Given the description of an element on the screen output the (x, y) to click on. 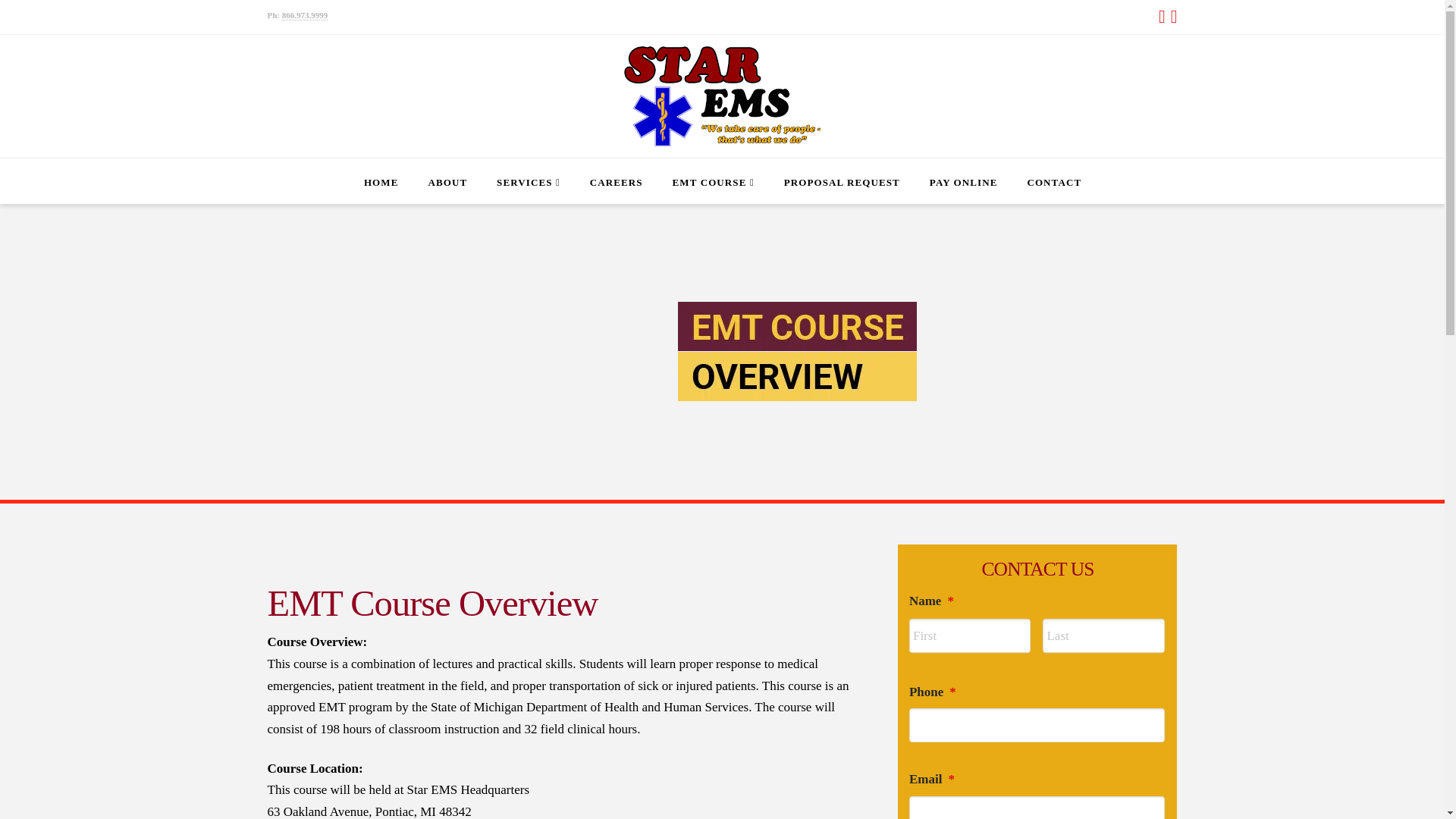
ABOUT (446, 180)
HOME (381, 180)
866.973.9999 (305, 15)
SERVICES (528, 180)
CONTACT (1053, 180)
EMT COURSE (713, 180)
PROPOSAL REQUEST (841, 180)
PAY ONLINE (962, 180)
CAREERS (616, 180)
